Given the description of an element on the screen output the (x, y) to click on. 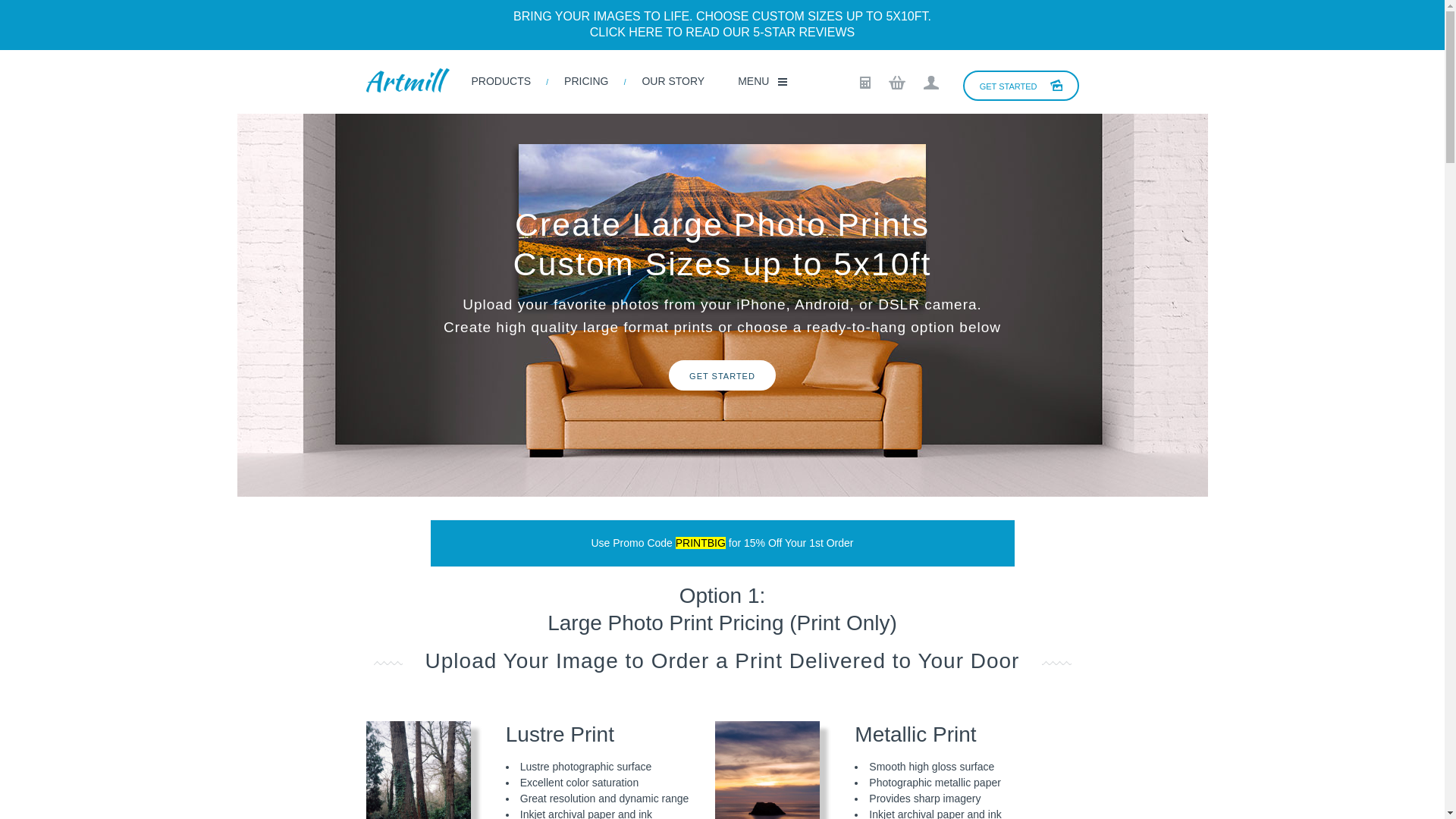
PRODUCTS (501, 81)
CLICK HERE TO READ OUR 5-STAR REVIEWS (721, 31)
Login (931, 82)
PRICING (585, 81)
MENU (755, 81)
GET STARTED (1020, 85)
GET STARTED (722, 375)
OUR STORY (672, 81)
